Given the description of an element on the screen output the (x, y) to click on. 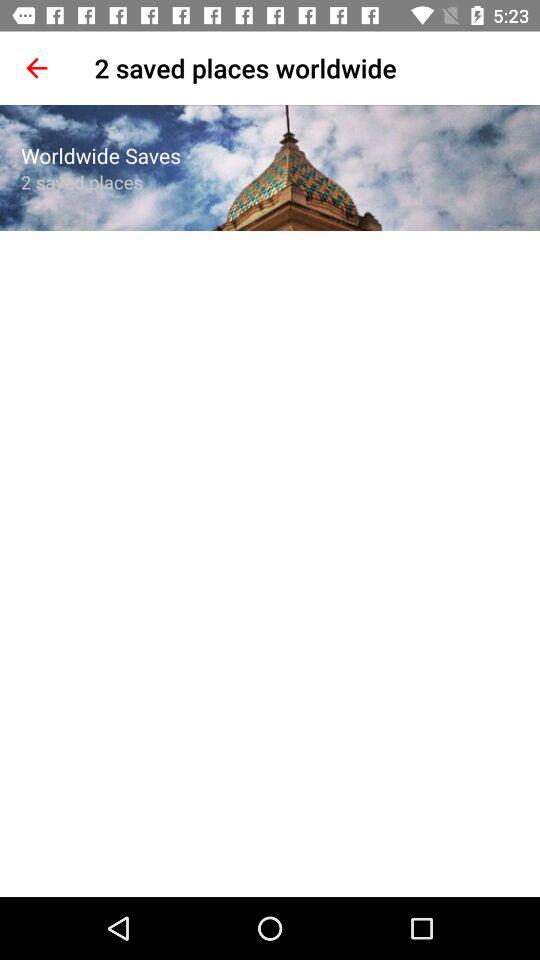
launch the item to the left of the 2 saved places icon (36, 68)
